Given the description of an element on the screen output the (x, y) to click on. 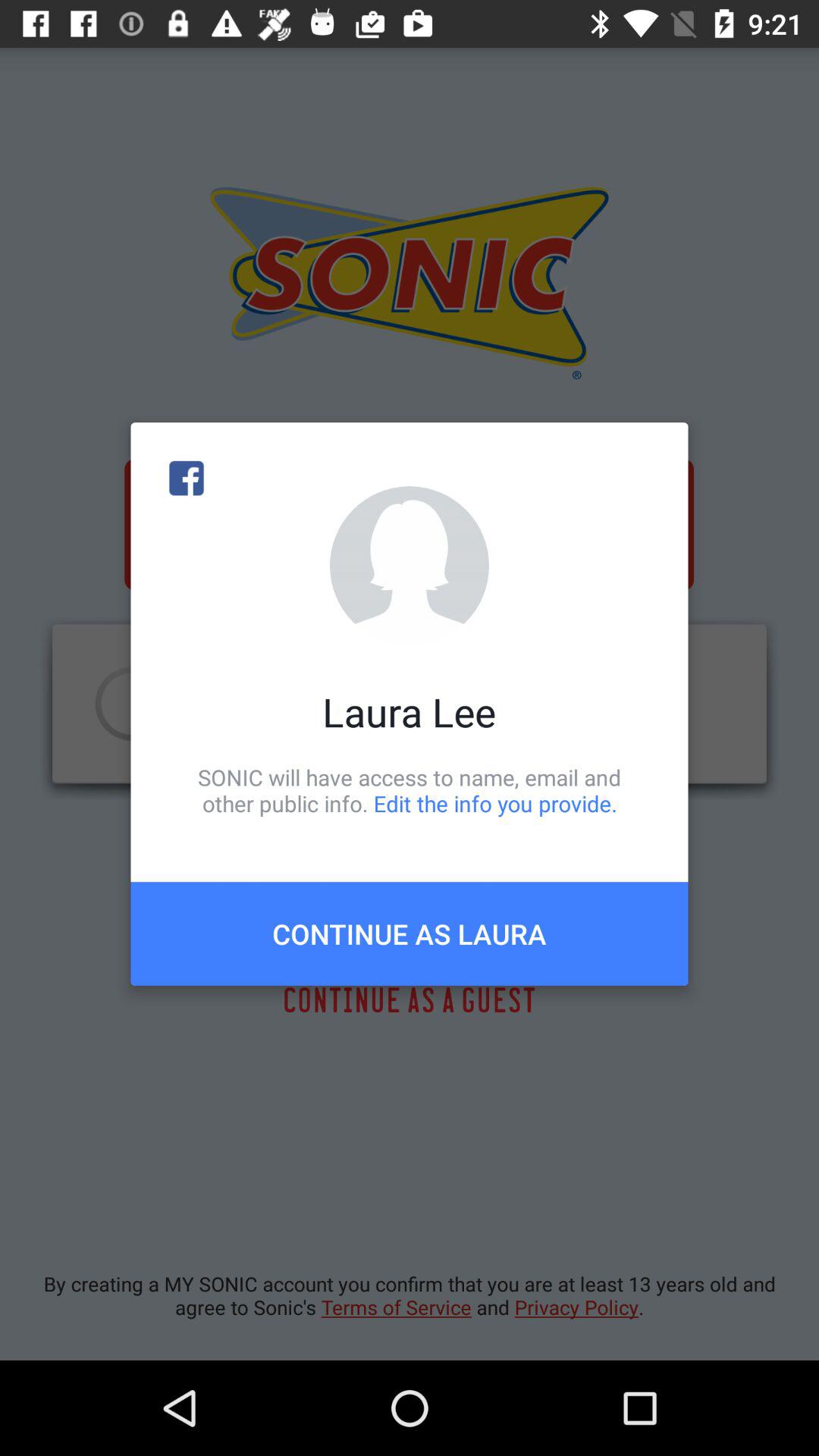
scroll until sonic will have item (409, 790)
